Given the description of an element on the screen output the (x, y) to click on. 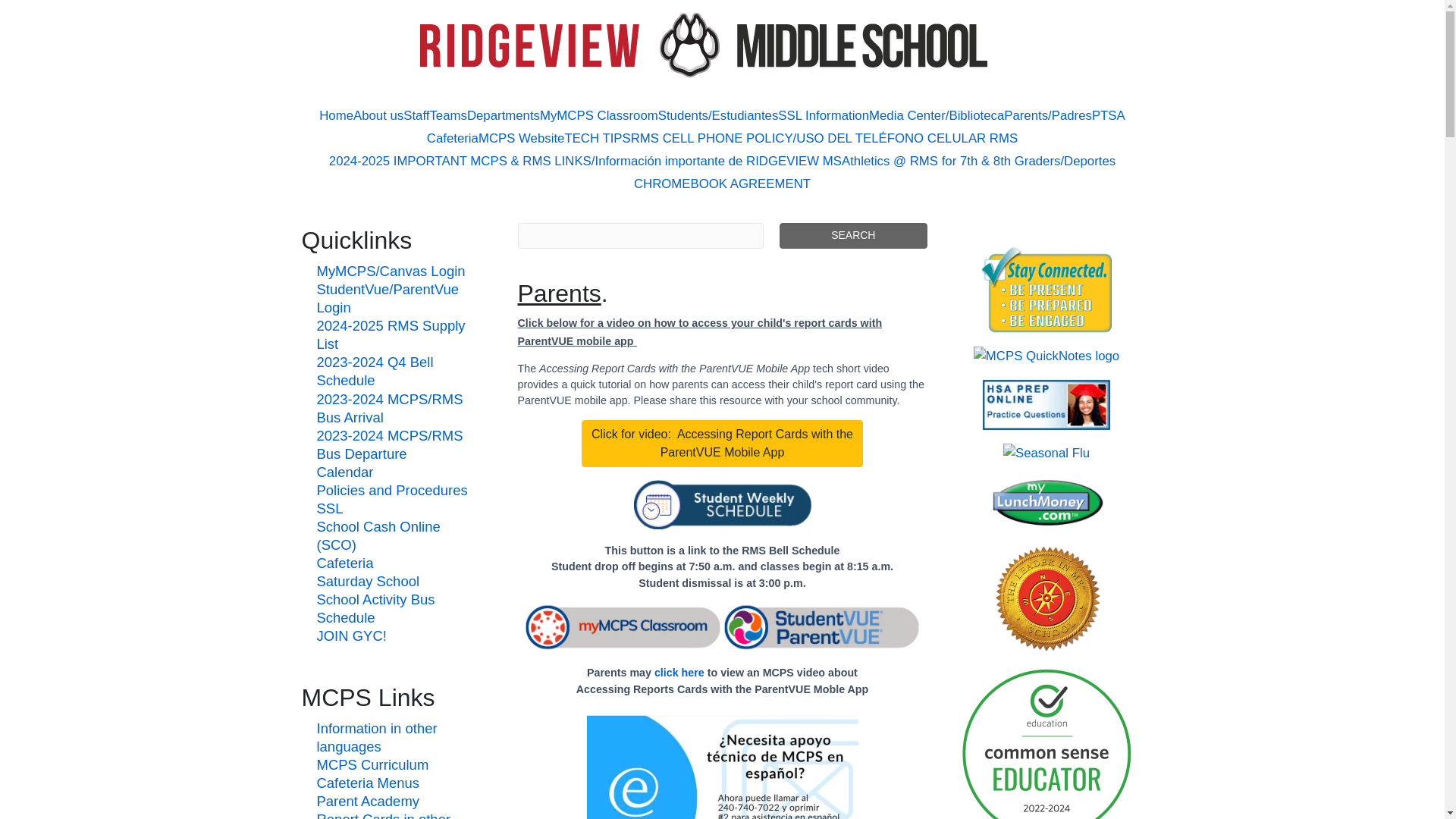
Teams (447, 115)
SSL Information (823, 115)
SEARCH (852, 235)
MCPS Website (521, 138)
SEARCH (852, 235)
TECH TIPS (597, 138)
Cafeteria (452, 138)
Teams (447, 115)
About us (378, 115)
Staff (416, 115)
Cafeteria (452, 138)
Ridgeview Middle School (721, 44)
CHROMEBOOK AGREEMENT (721, 183)
Home (335, 115)
PTSA (1108, 115)
